Given the description of an element on the screen output the (x, y) to click on. 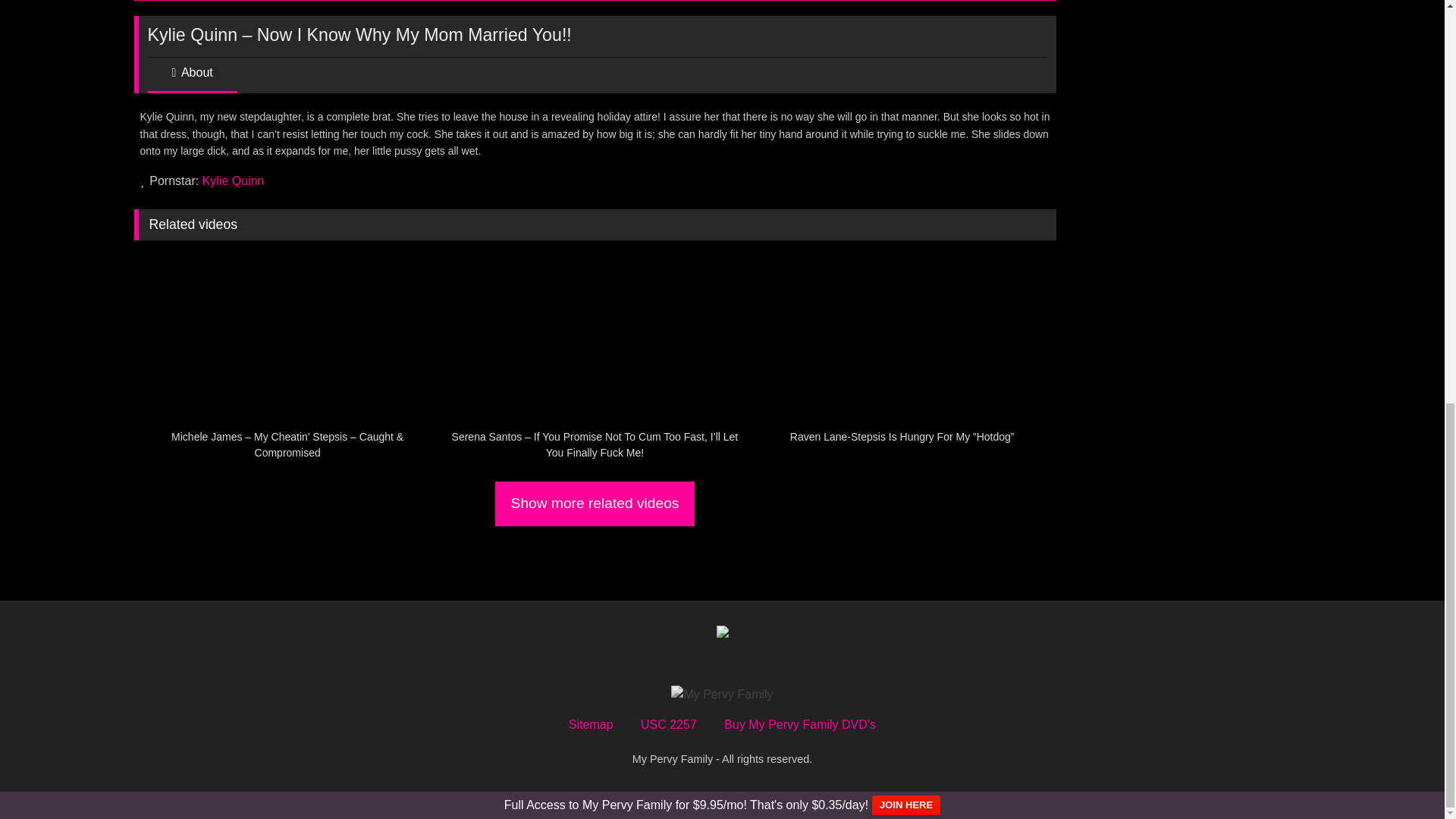
JOIN HERE (906, 804)
Kylie Quinn (233, 180)
USC 2257 (668, 724)
About (191, 78)
Kylie Quinn (233, 180)
Sitemap (590, 724)
Show more related videos (594, 504)
My Pervy Family (722, 694)
